Given the description of an element on the screen output the (x, y) to click on. 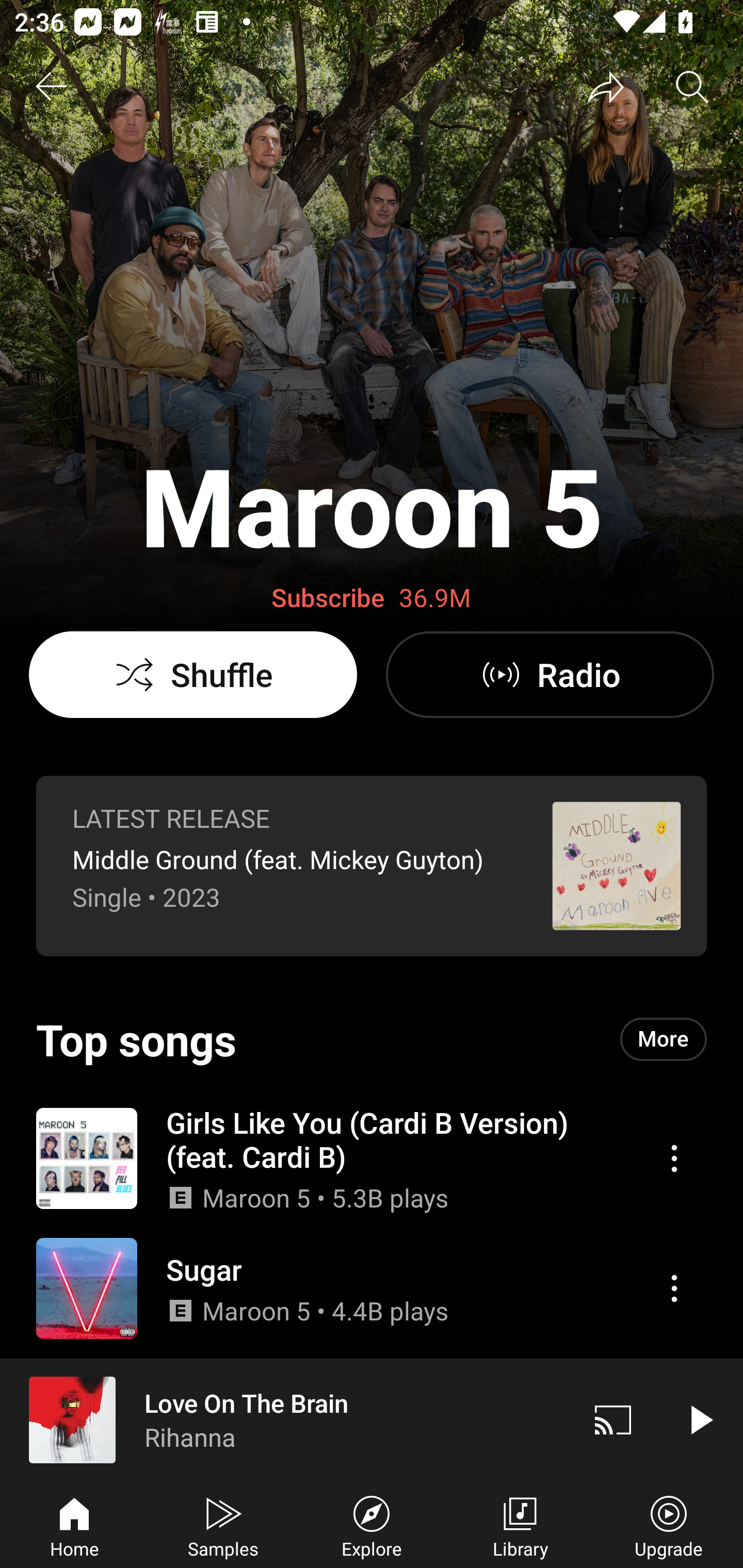
Back (50, 86)
Share (605, 86)
Search (692, 86)
Subscribe 36.9M (371, 598)
Shuffle (192, 674)
Radio (549, 674)
Action menu (371, 1157)
Action menu (673, 1158)
Action menu (371, 1288)
Action menu (673, 1288)
Love On The Brain Rihanna (284, 1419)
Cast. Disconnected (612, 1419)
Play video (699, 1419)
Home (74, 1524)
Samples (222, 1524)
Explore (371, 1524)
Library (519, 1524)
Upgrade (668, 1524)
